Given the description of an element on the screen output the (x, y) to click on. 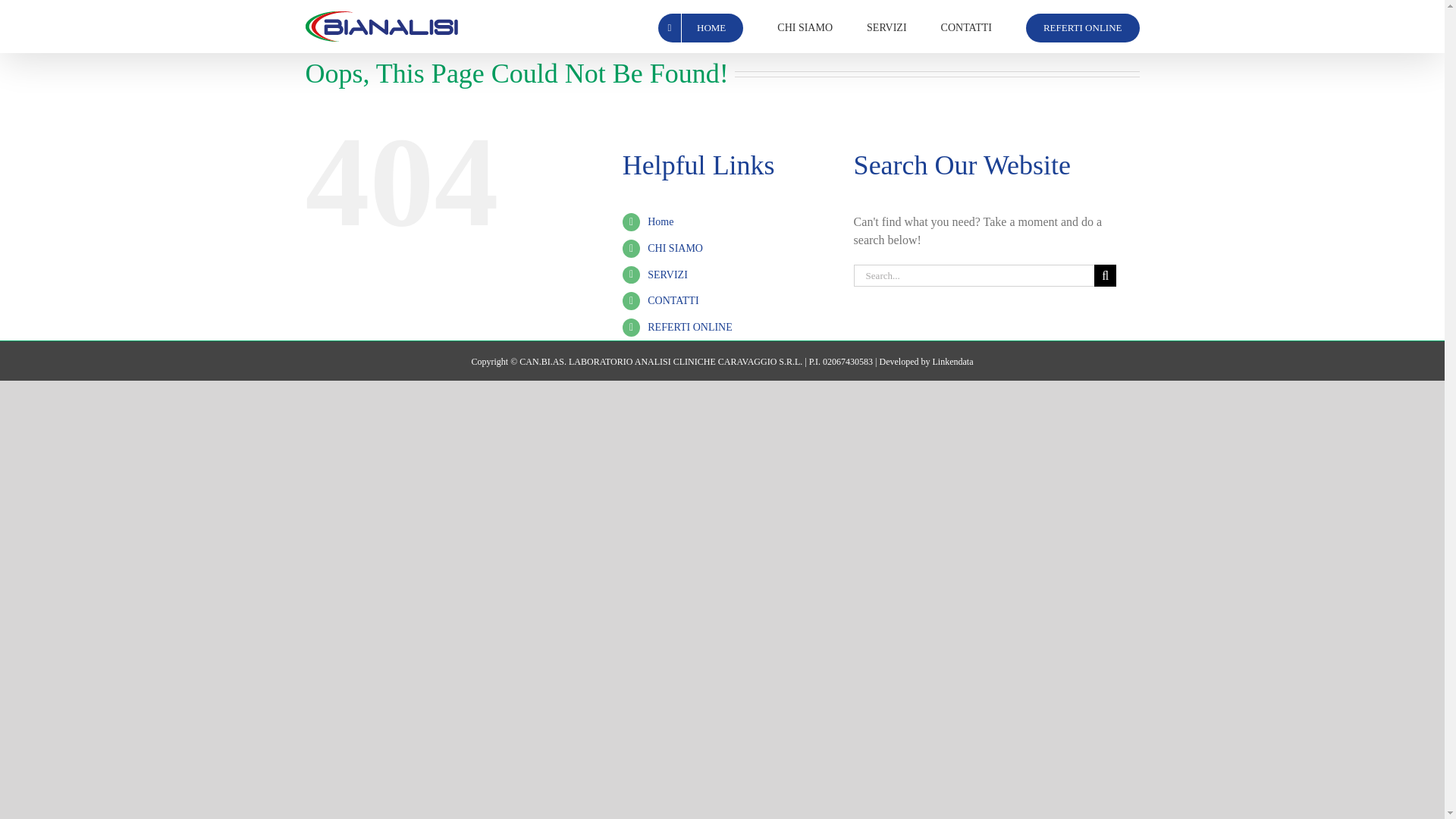
CHI SIAMO (675, 247)
Linkendata (951, 361)
CONTATTI (672, 300)
CONTATTI (965, 26)
SERVIZI (667, 274)
REFERTI ONLINE (1083, 26)
HOME (700, 26)
SERVIZI (886, 26)
Home (659, 221)
REFERTI ONLINE (689, 326)
CHI SIAMO (804, 26)
